Given the description of an element on the screen output the (x, y) to click on. 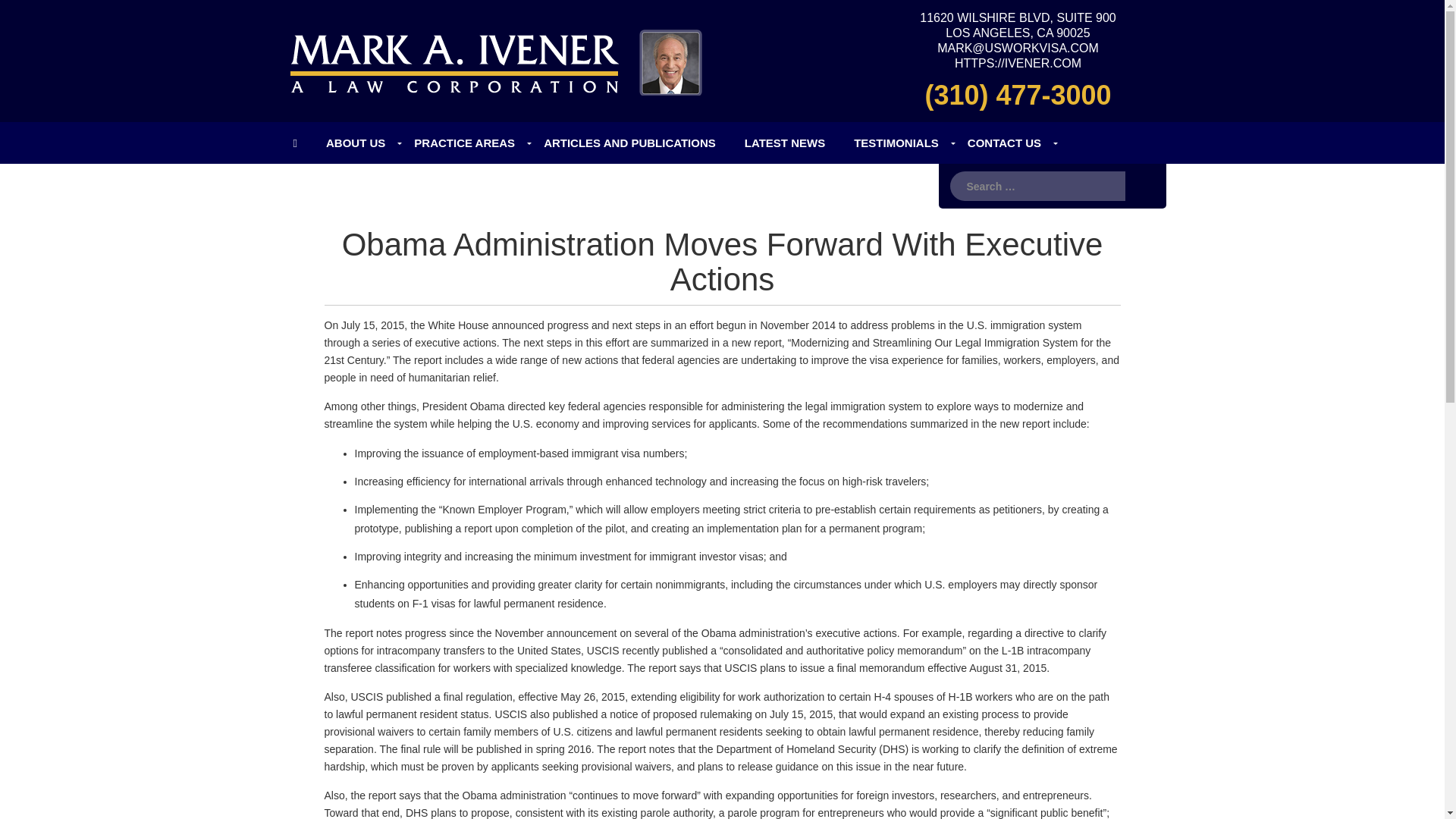
Search (1139, 185)
Search (1139, 185)
TESTIMONIALS (896, 142)
ABOUT US (354, 142)
ARTICLES AND PUBLICATIONS (629, 142)
Search (1139, 185)
LATEST NEWS (785, 142)
CONTACT US (1004, 142)
PRACTICE AREAS (463, 142)
